Given the description of an element on the screen output the (x, y) to click on. 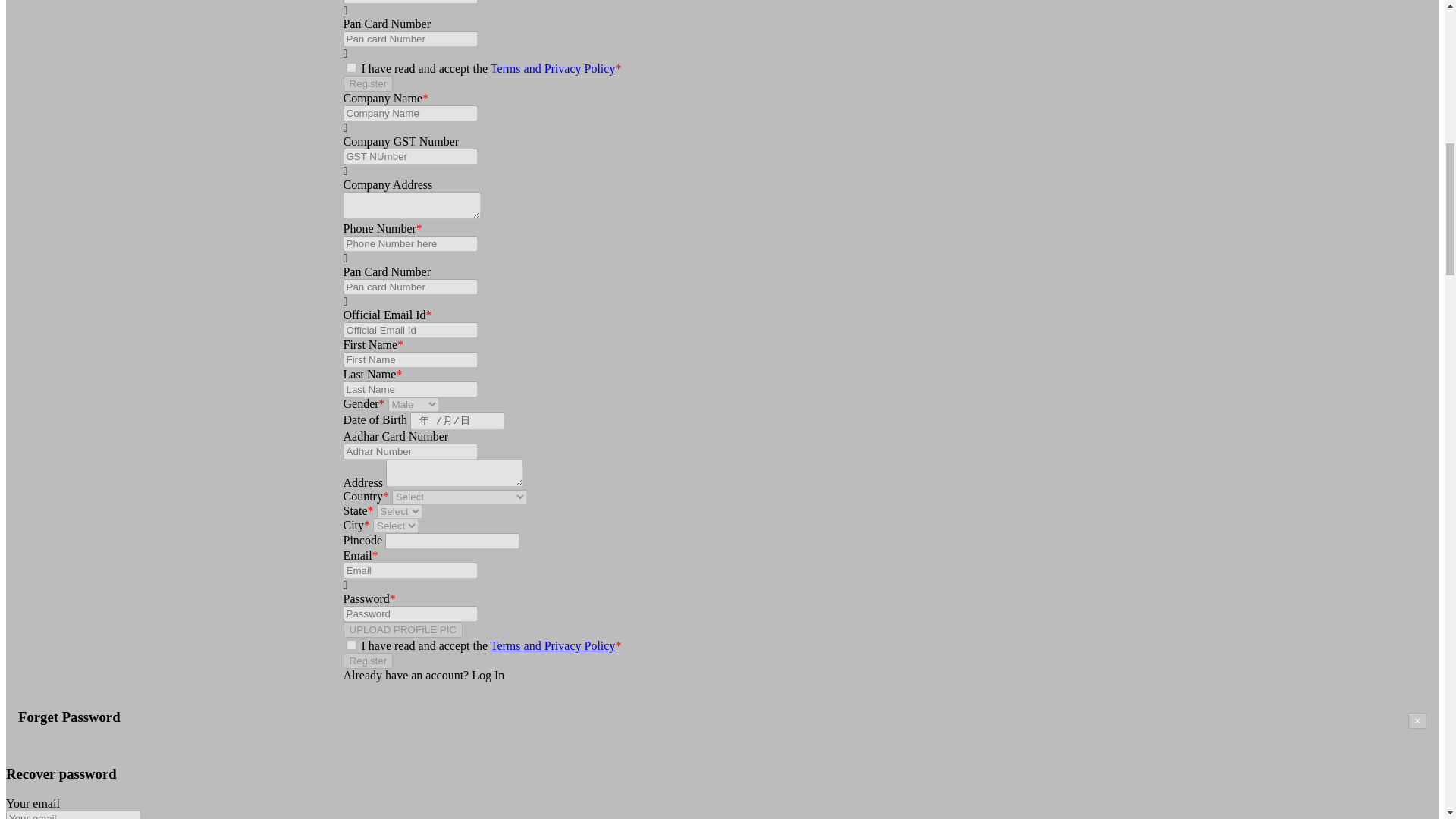
Log In (487, 675)
Terms and Privacy Policy (552, 645)
Register (367, 660)
Register (367, 83)
1 (350, 67)
UPLOAD PROFILE PIC (401, 629)
Terms and Privacy Policy (552, 68)
